Given the description of an element on the screen output the (x, y) to click on. 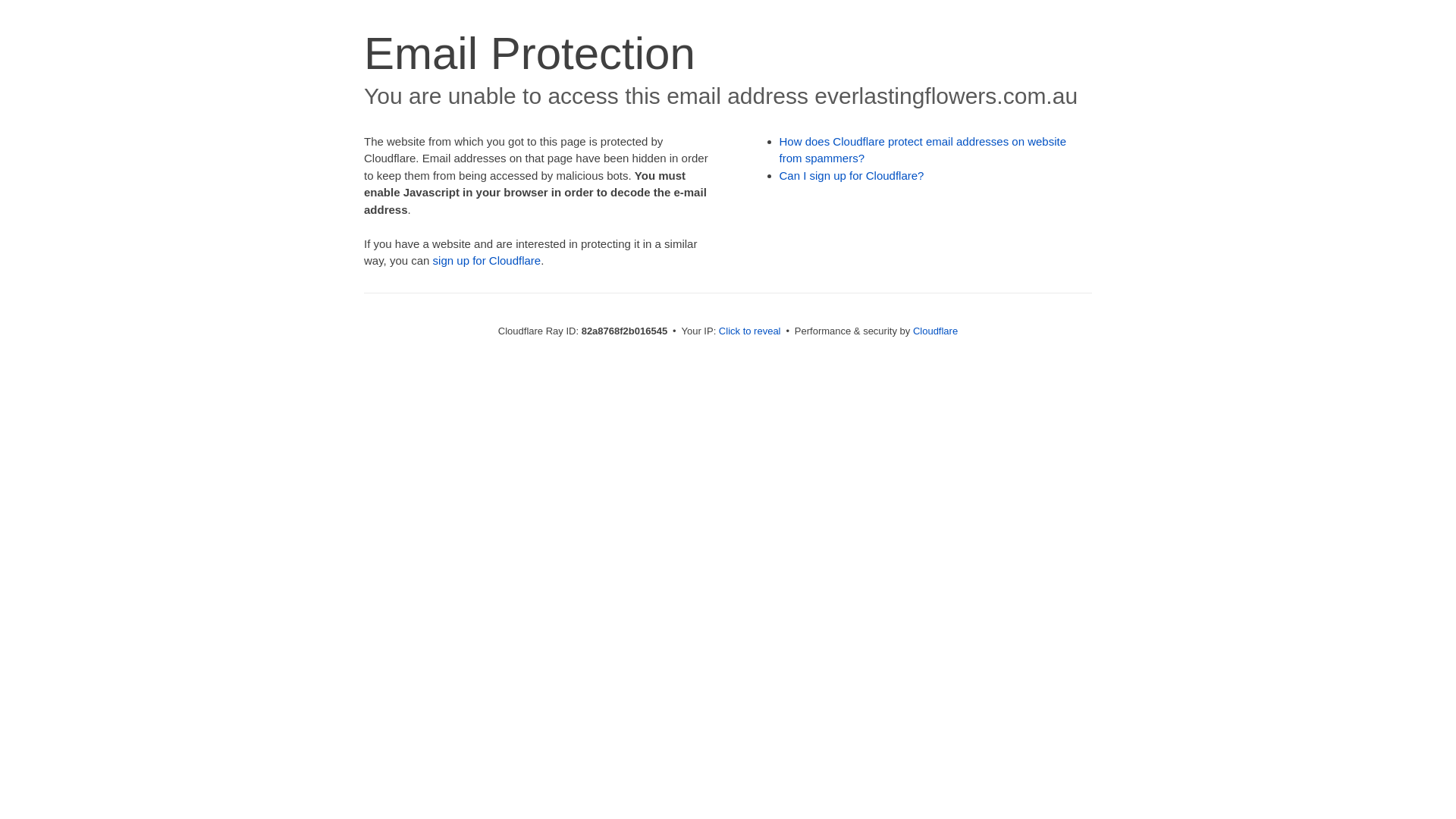
Click to reveal Element type: text (749, 330)
Cloudflare Element type: text (935, 330)
Can I sign up for Cloudflare? Element type: text (851, 175)
sign up for Cloudflare Element type: text (487, 260)
